Given the description of an element on the screen output the (x, y) to click on. 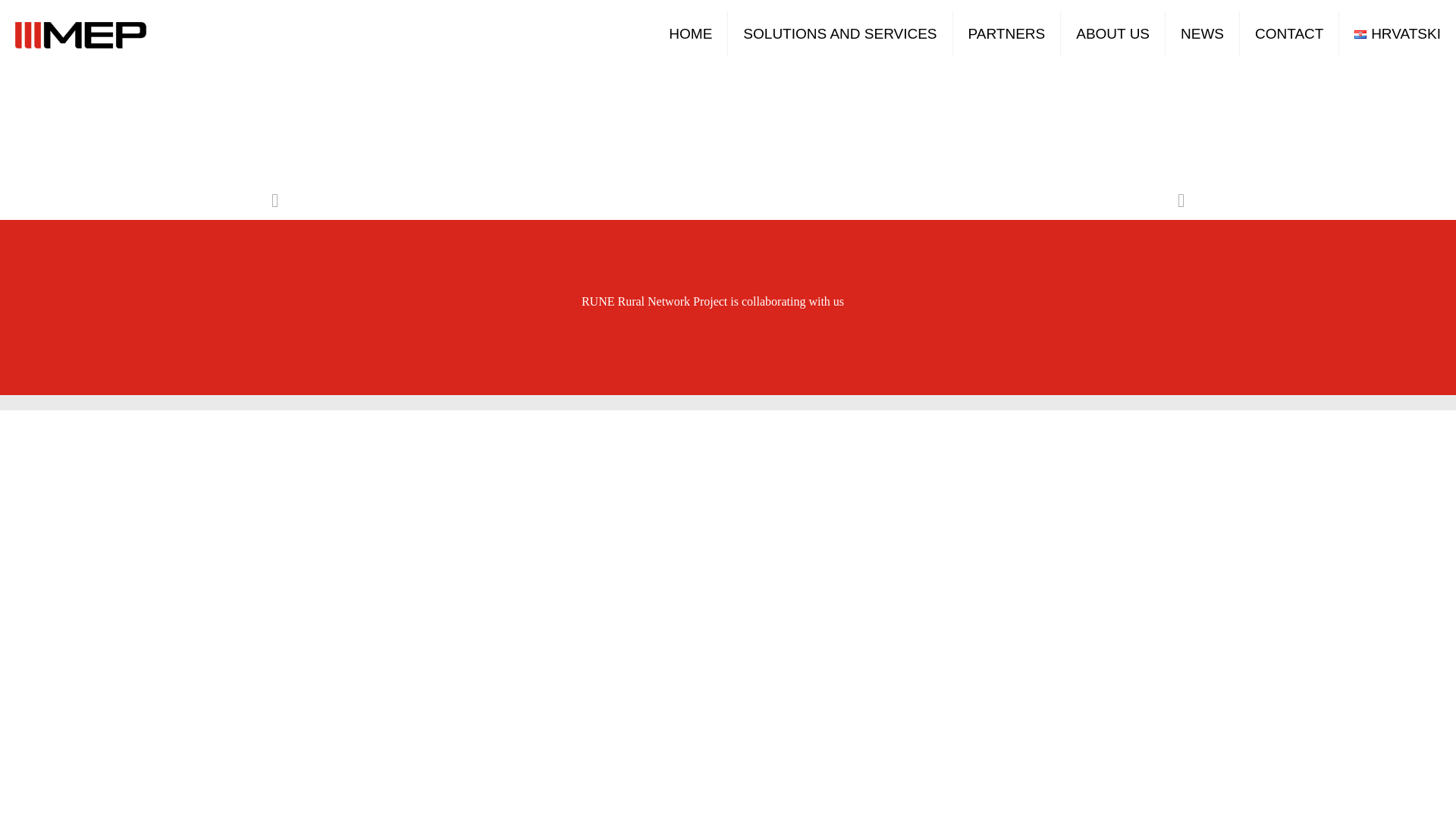
HOME (690, 33)
PARTNERS (1007, 33)
MEP (80, 33)
SOLUTIONS AND SERVICES (840, 33)
ABOUT US (1113, 33)
CONTACT (1289, 33)
NEWS (1203, 33)
